Given the description of an element on the screen output the (x, y) to click on. 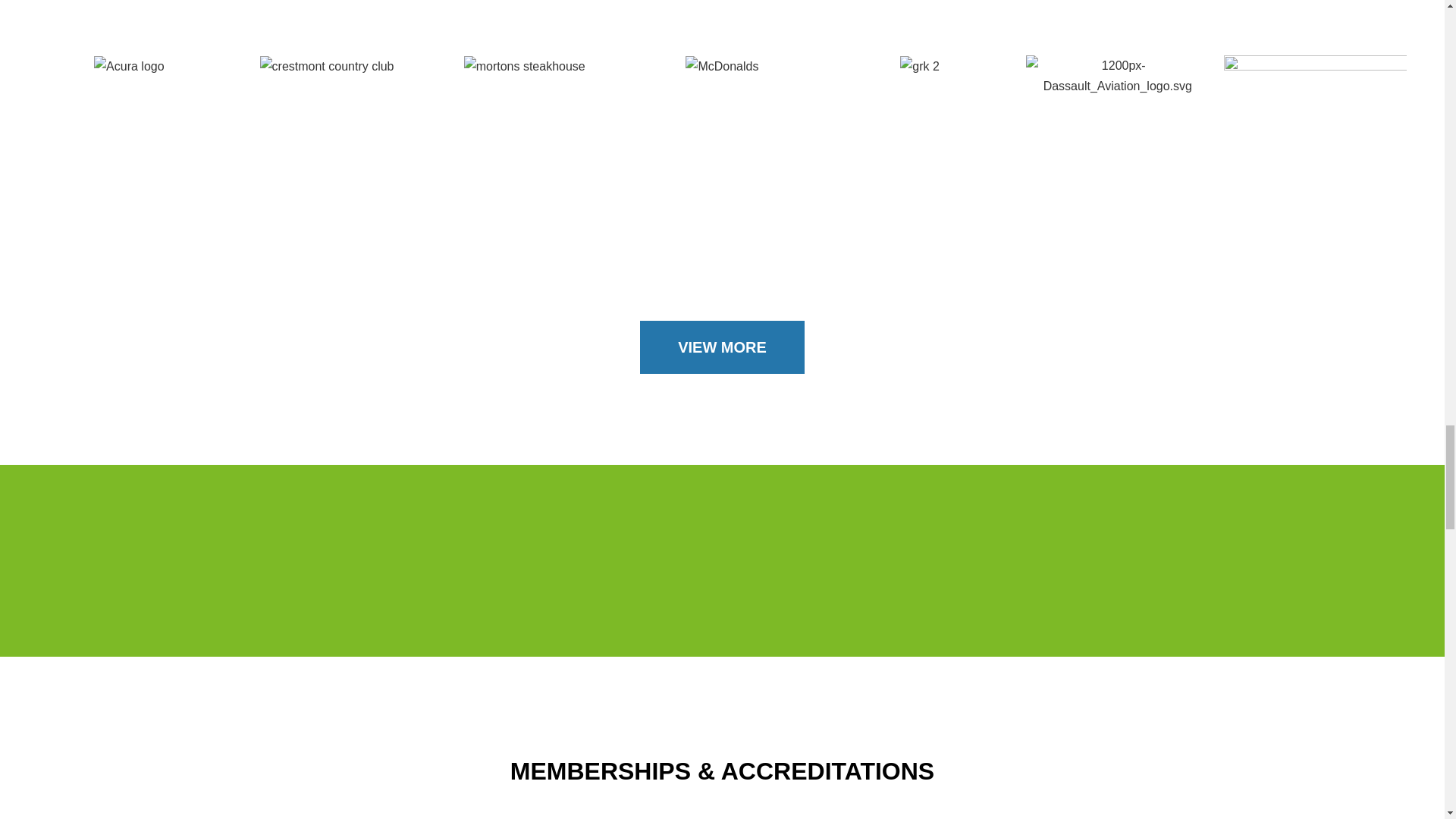
grk 2 (919, 66)
McDonalds (721, 66)
Acura logo (129, 66)
crestmont country club (327, 66)
mortons steakhouse (524, 66)
